Given the description of an element on the screen output the (x, y) to click on. 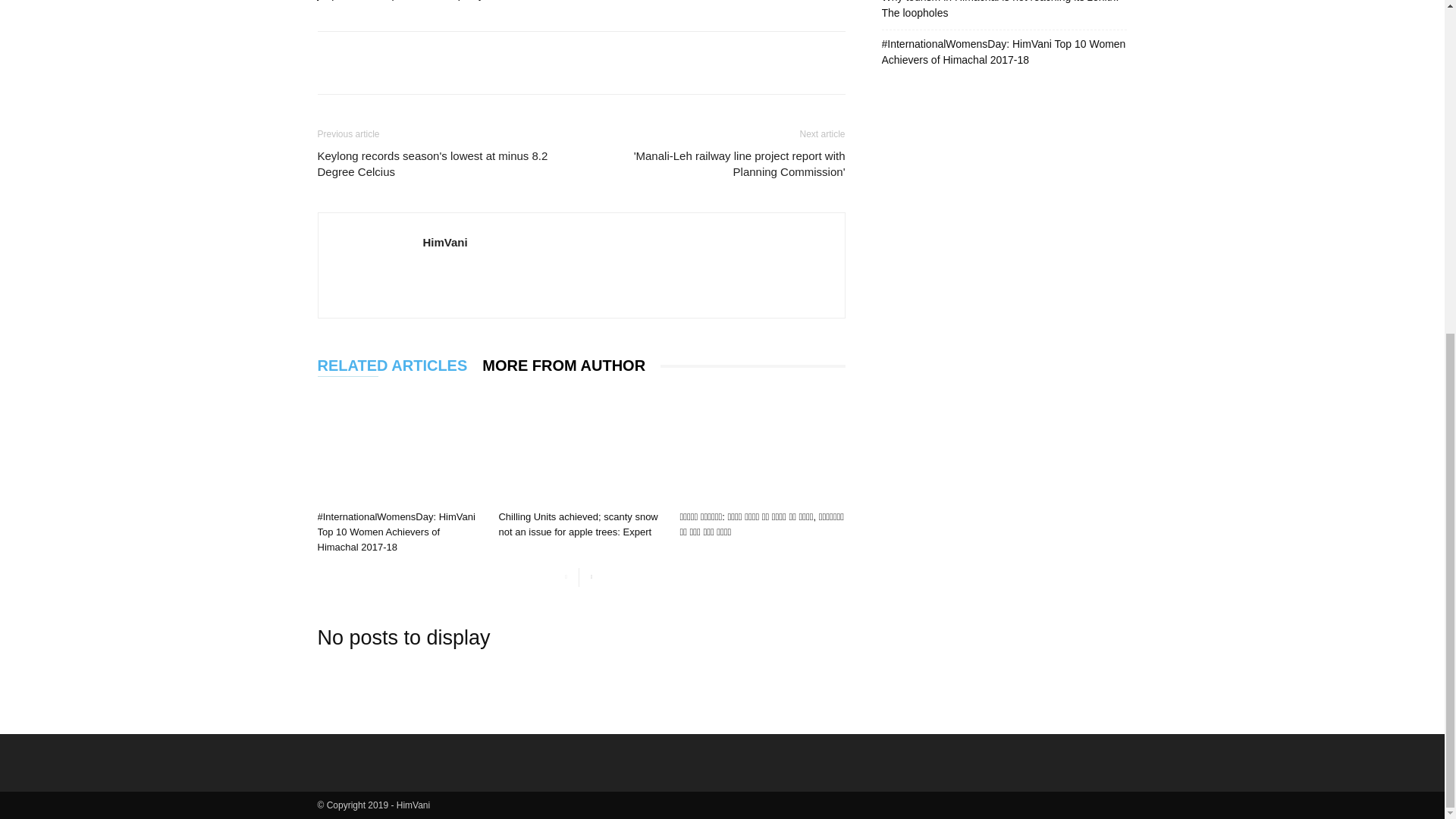
Keylong records season's lowest at minus 8.2 Degree Celcius (439, 163)
HimVani (445, 241)
RELATED ARTICLES (399, 365)
